Given the description of an element on the screen output the (x, y) to click on. 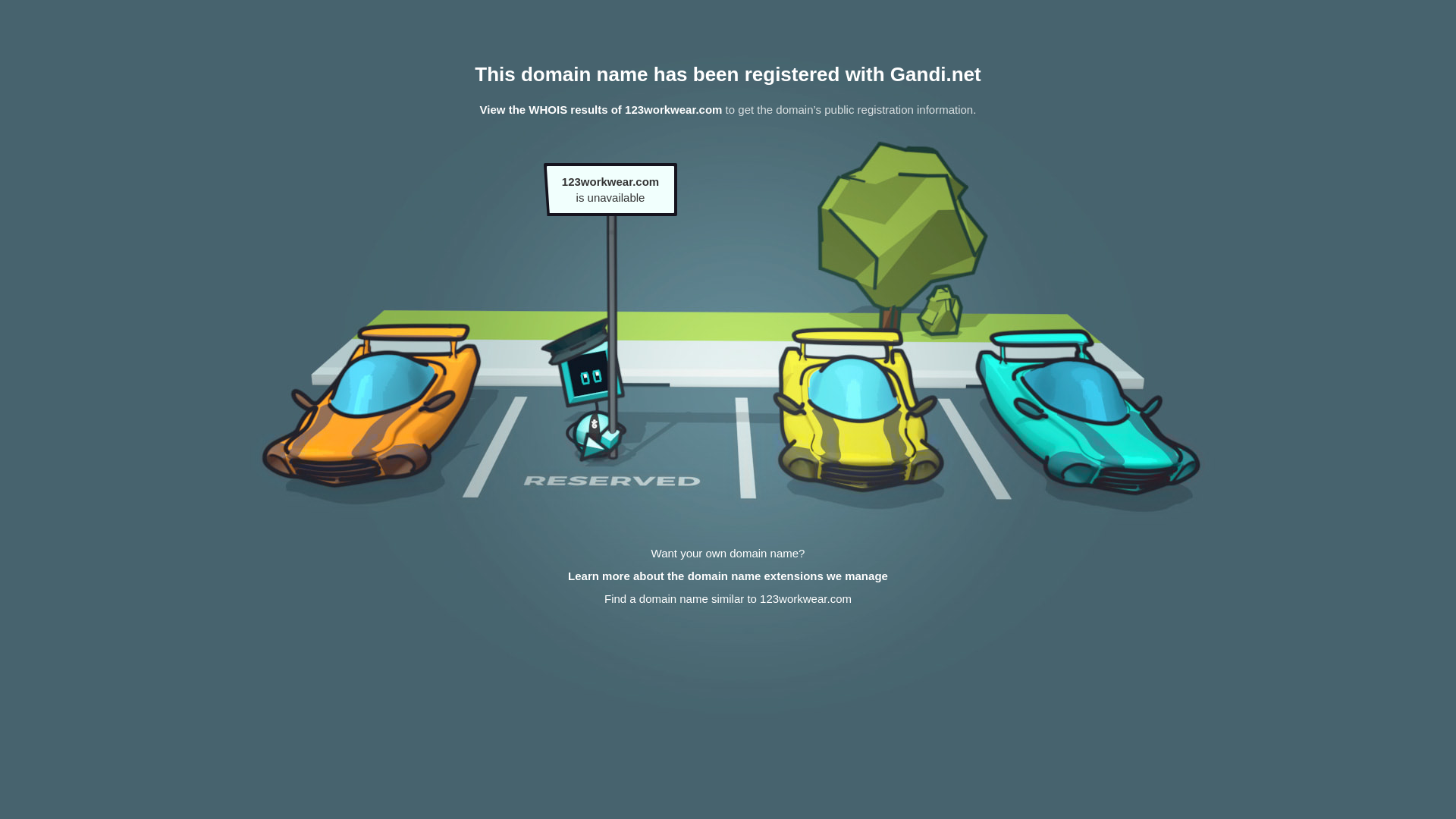
View the WHOIS results of 123workwear.com Element type: text (601, 109)
Find a domain name similar to 123workwear.com Element type: text (727, 598)
Learn more about the domain name extensions we manage Element type: text (727, 575)
